Given the description of an element on the screen output the (x, y) to click on. 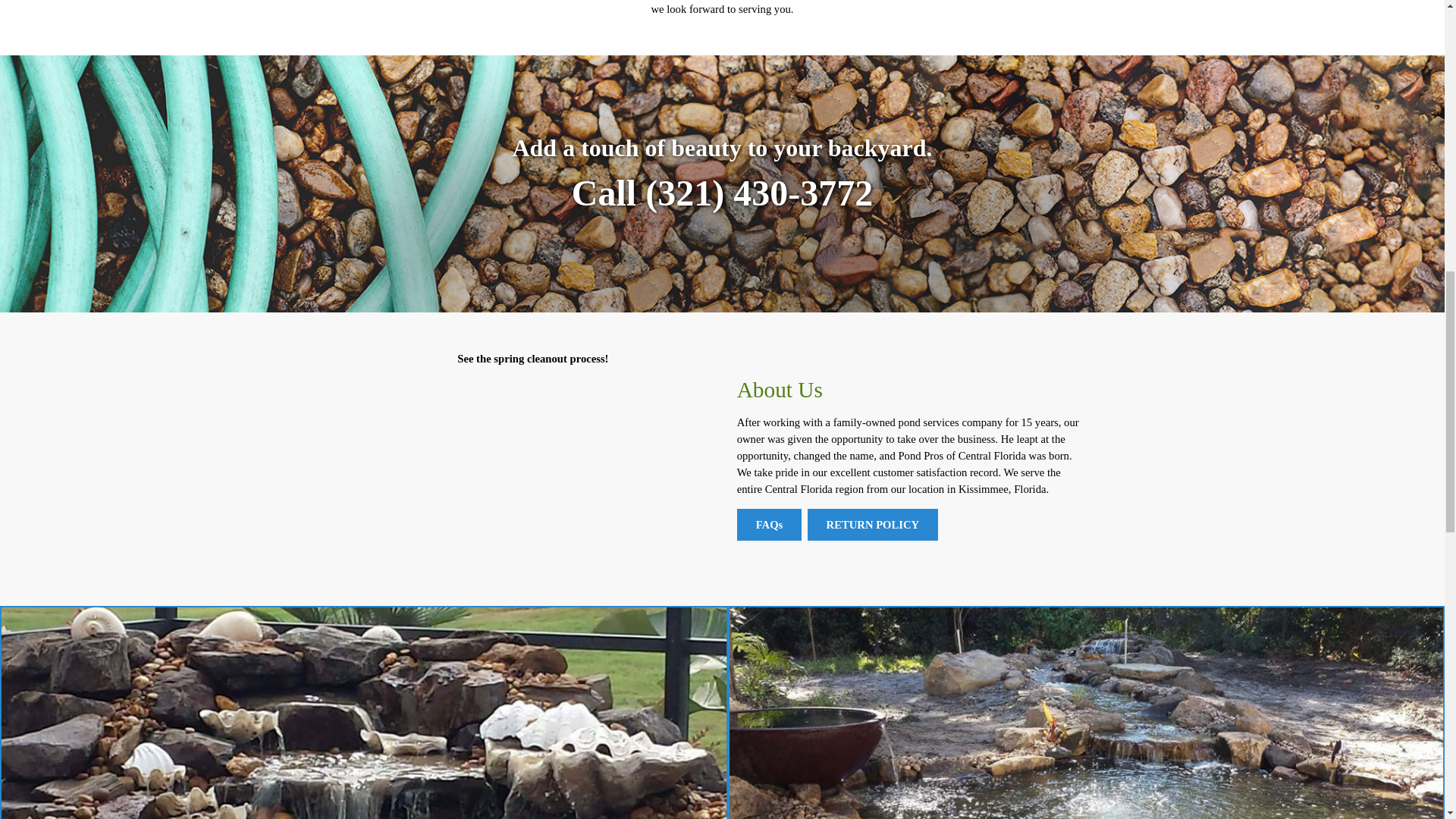
RETURN POLICY (873, 524)
FAQs (769, 524)
